Given the description of an element on the screen output the (x, y) to click on. 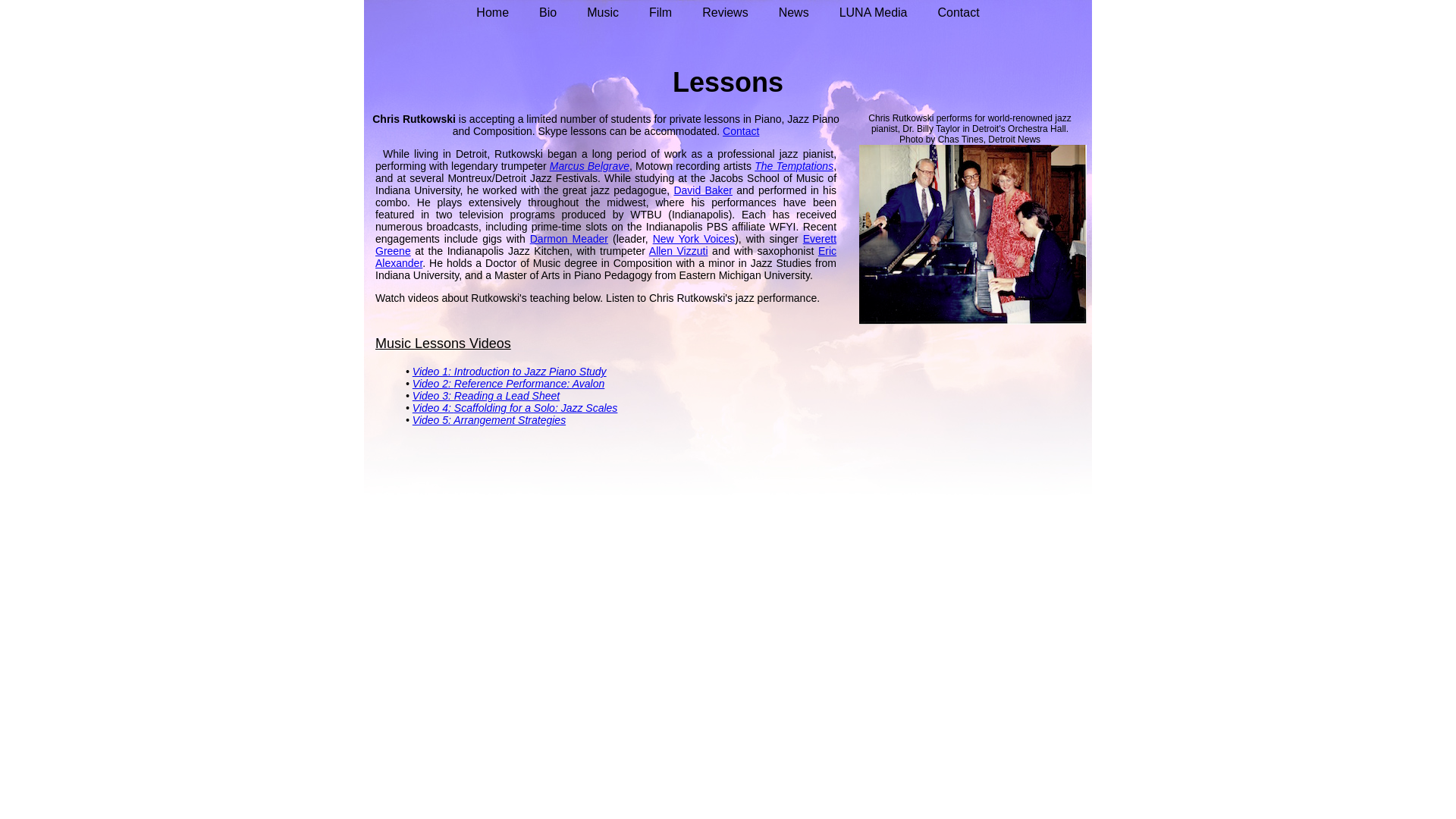
Contact (957, 11)
Reference Performance: Avalon (529, 383)
Everett Greene (605, 244)
Video 2: (433, 383)
David Baker (702, 190)
Video 3: Reading a Lead Sheet (485, 395)
Video 4: (433, 408)
The Temptations (793, 165)
Reviews (724, 11)
News (793, 11)
